Given the description of an element on the screen output the (x, y) to click on. 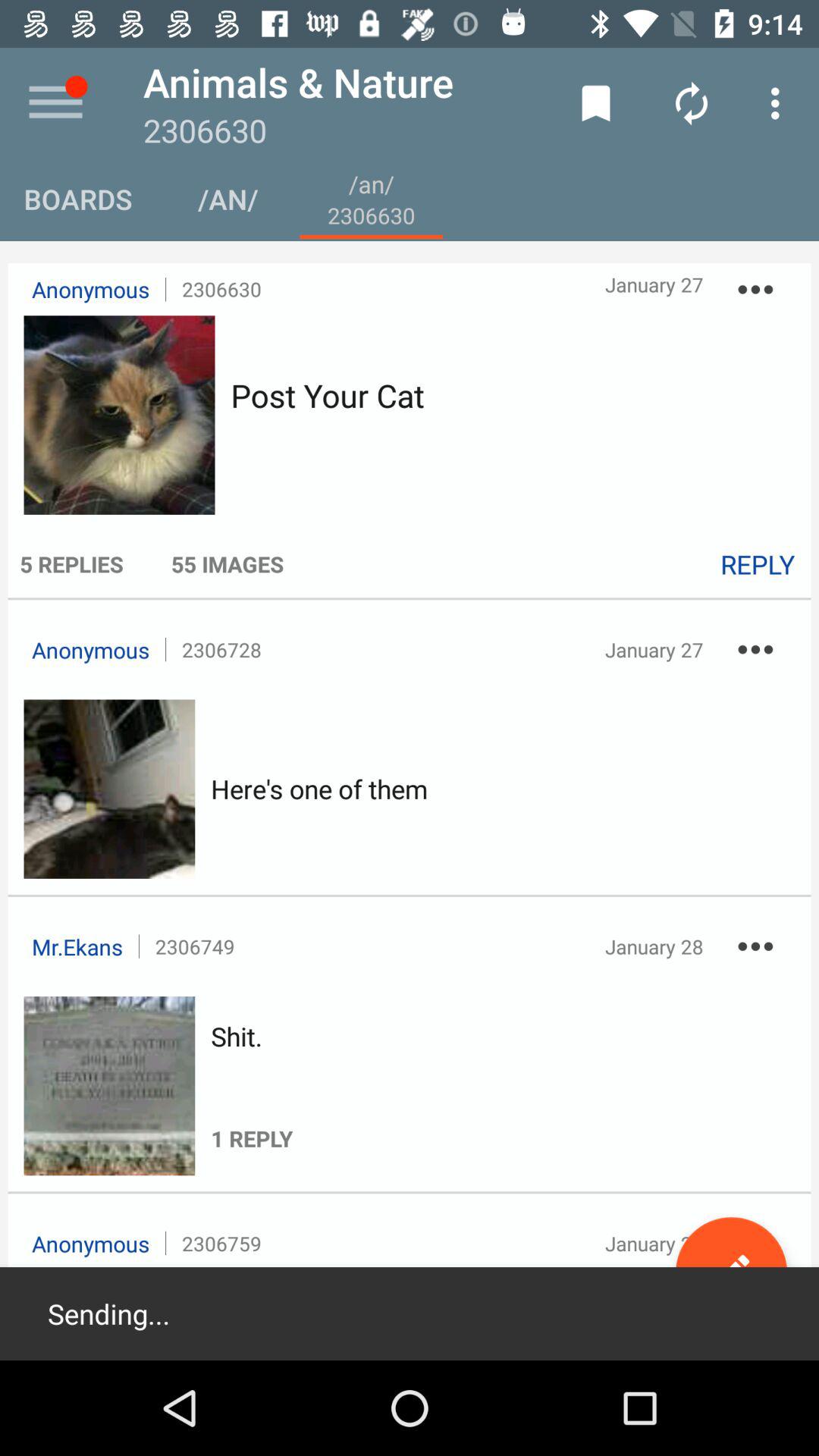
launch icon below reply item (755, 649)
